Given the description of an element on the screen output the (x, y) to click on. 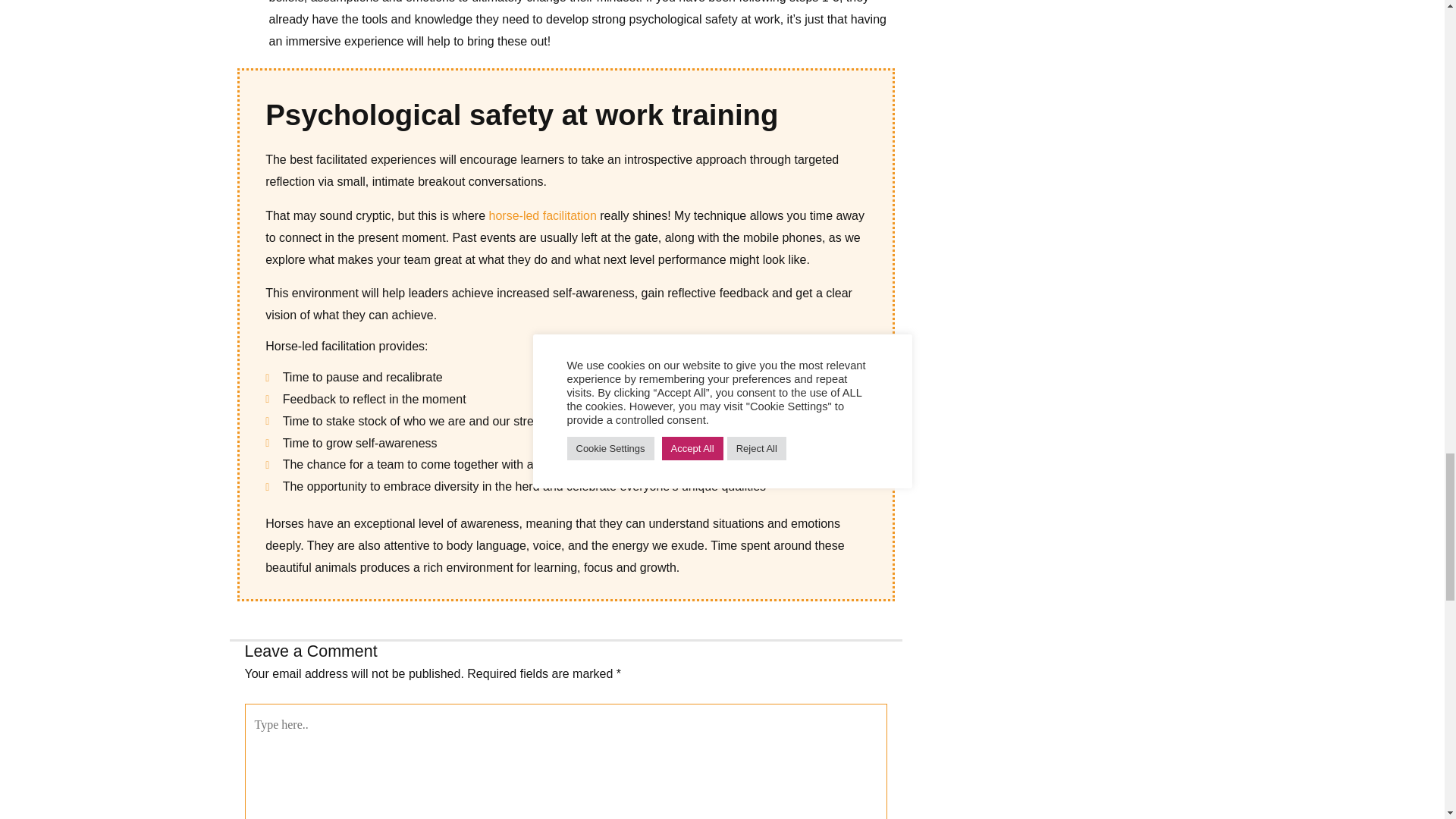
horse-led facilitation (542, 215)
